Given the description of an element on the screen output the (x, y) to click on. 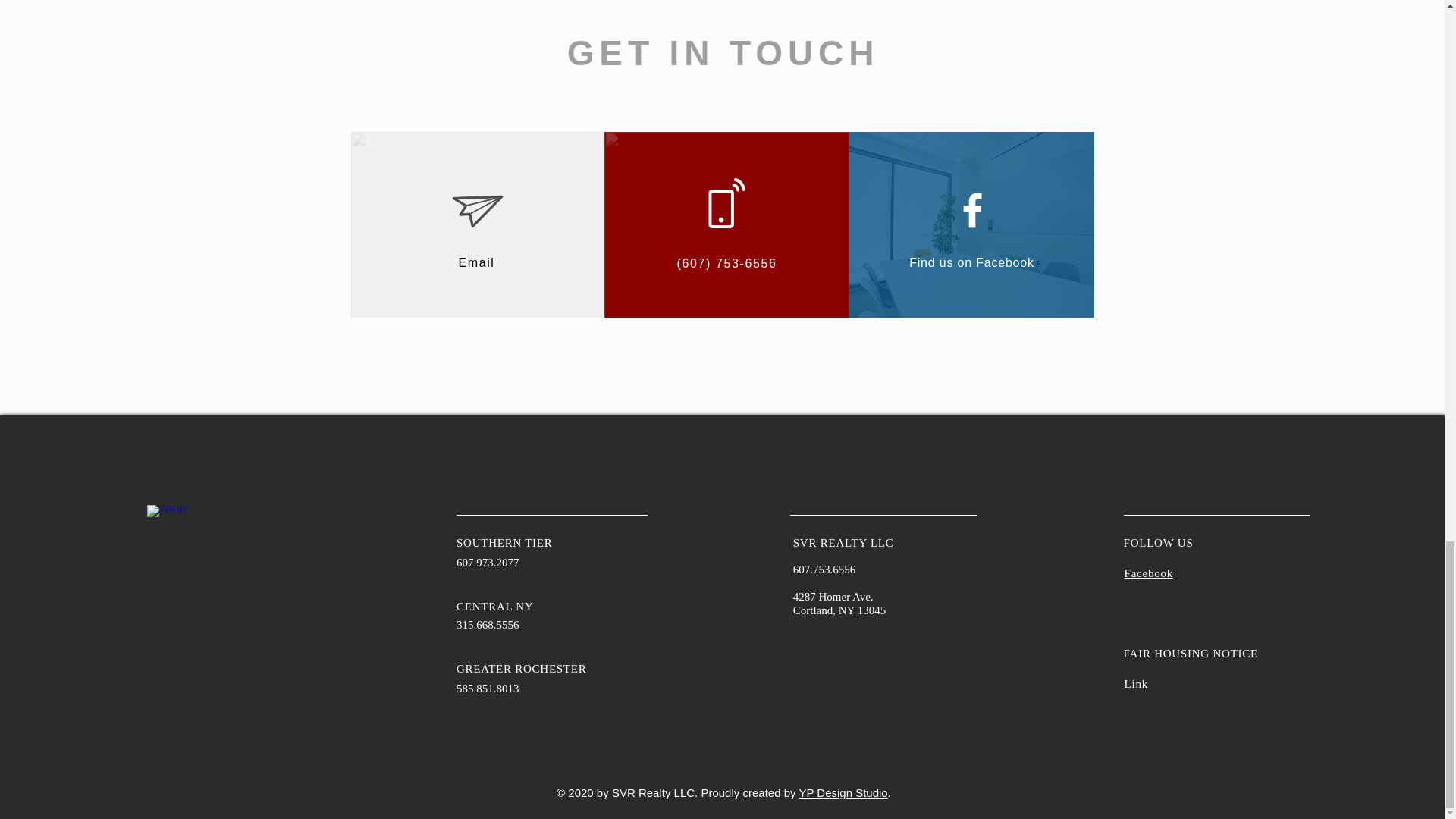
FAIR HOUSING NOTICE (1190, 653)
Find us on Facebook (970, 262)
YP Design Studio (841, 792)
Facebook (1148, 573)
Link (1136, 683)
Email (476, 262)
